Given the description of an element on the screen output the (x, y) to click on. 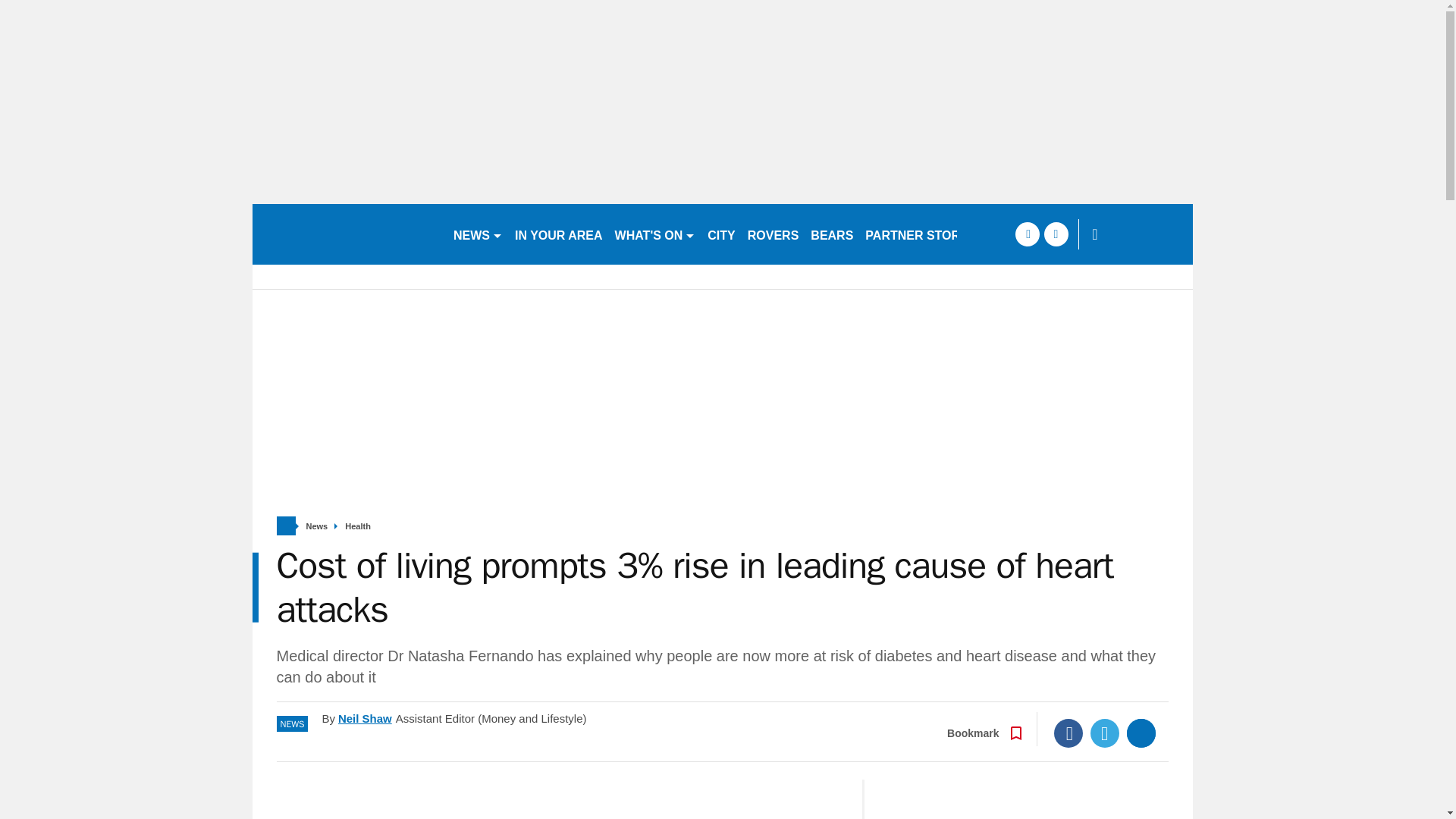
bristolpost (345, 233)
NEWS (477, 233)
twitter (1055, 233)
Facebook (1068, 733)
PARTNER STORIES (922, 233)
BEARS (832, 233)
WHAT'S ON (654, 233)
Twitter (1104, 733)
ROVERS (773, 233)
IN YOUR AREA (558, 233)
facebook (1026, 233)
